Given the description of an element on the screen output the (x, y) to click on. 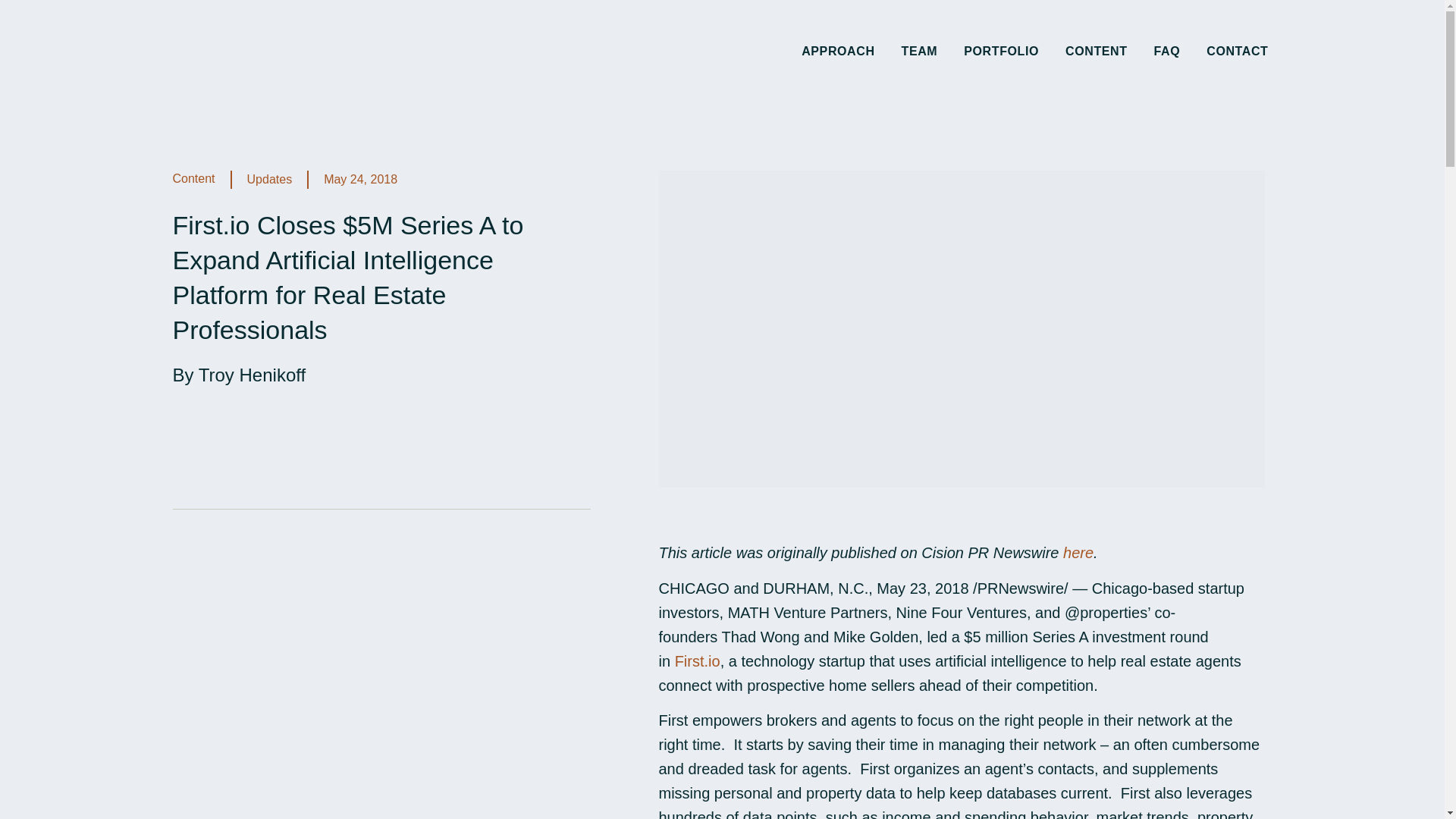
PORTFOLIO (1001, 51)
First.io (697, 660)
11:49 AM (360, 178)
APPROACH (838, 51)
CONTENT (1095, 51)
Updates (277, 179)
By Troy Henikoff (239, 374)
CONTACT (1237, 51)
here (1077, 552)
Content (194, 178)
